Given the description of an element on the screen output the (x, y) to click on. 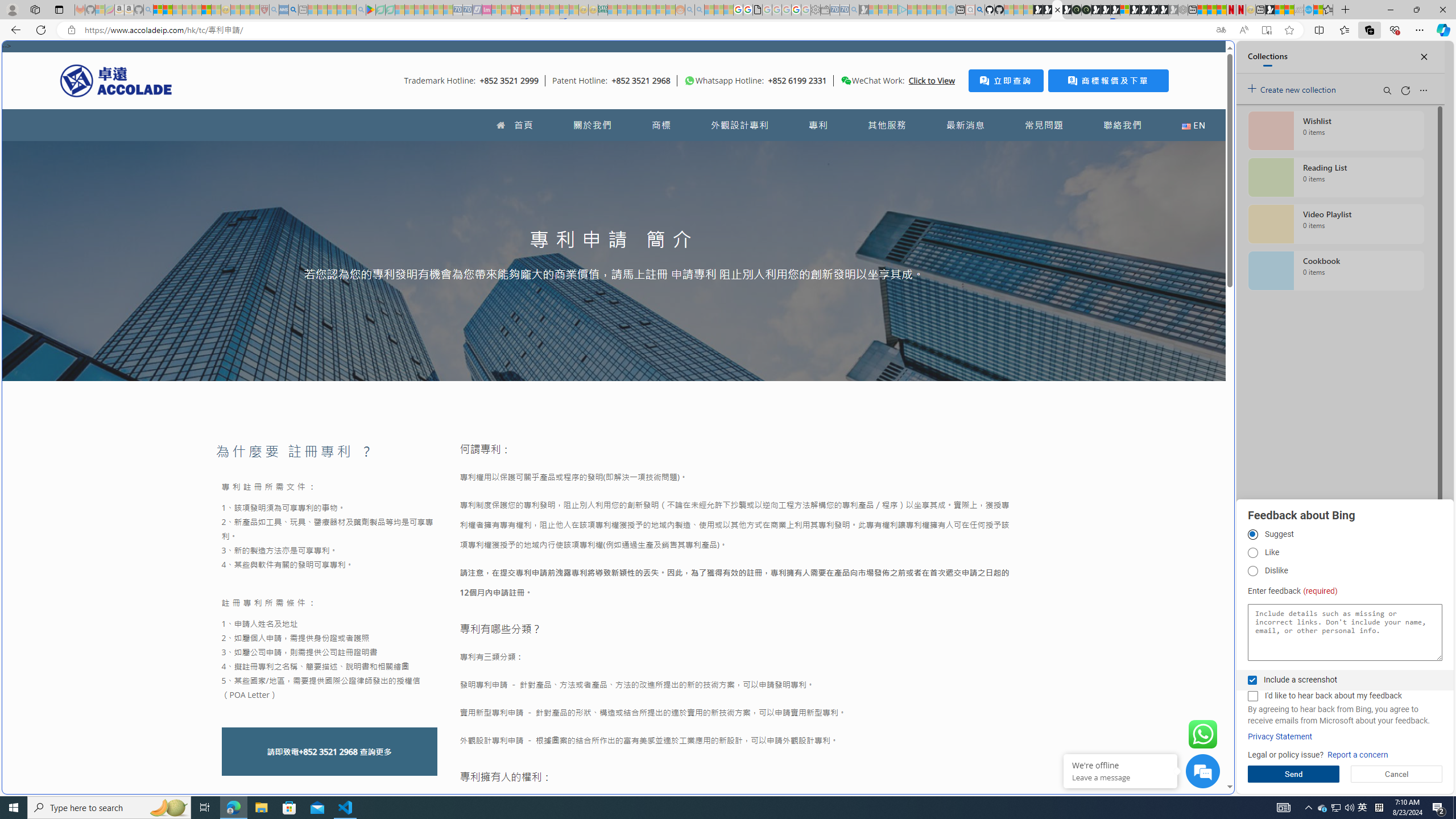
Suggest (1252, 534)
Search or enter web address (922, 108)
Earth has six continents not seven, radical new study claims (1288, 9)
